Given the description of an element on the screen output the (x, y) to click on. 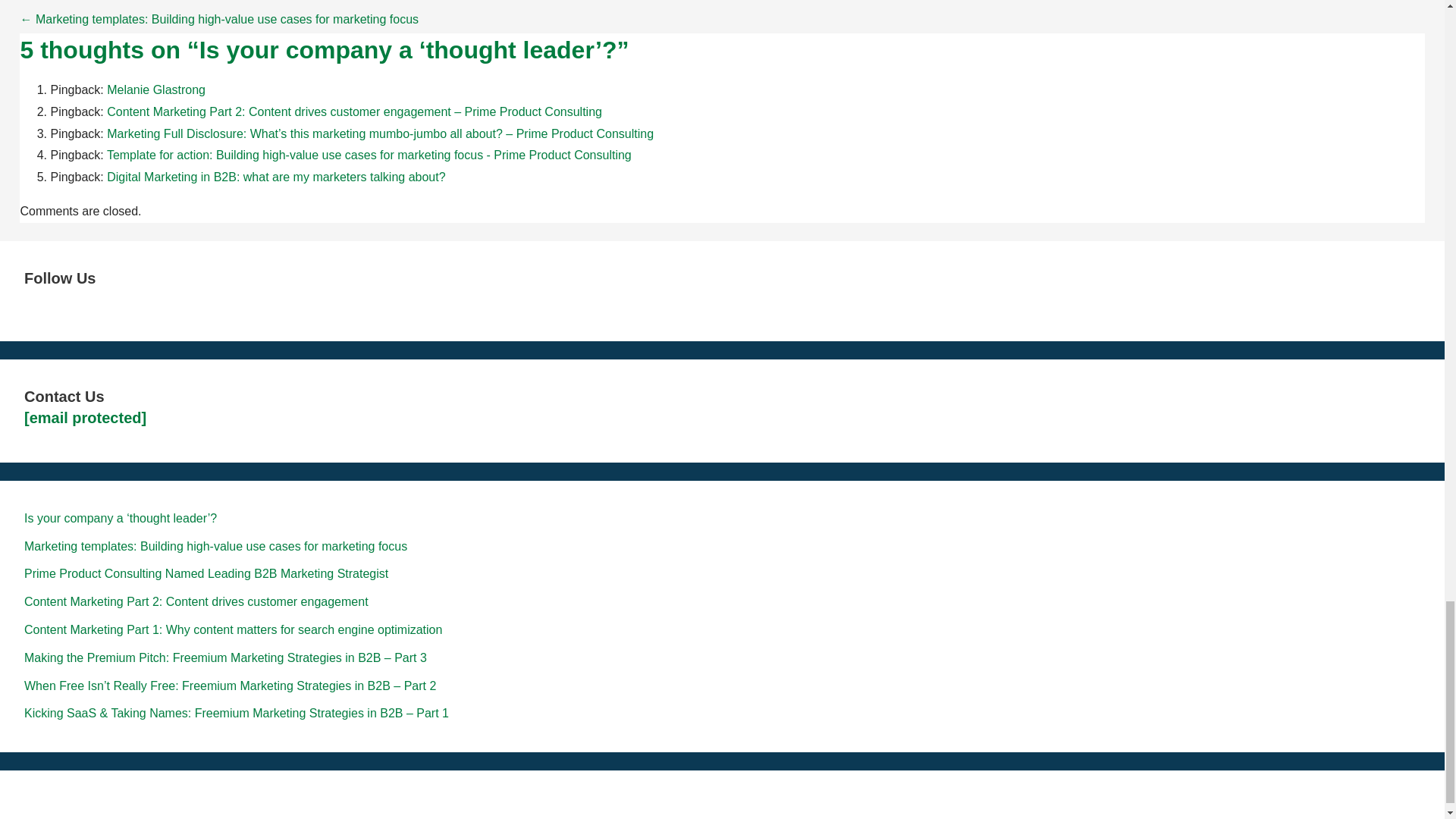
Melanie Glastrong (155, 89)
